Given the description of an element on the screen output the (x, y) to click on. 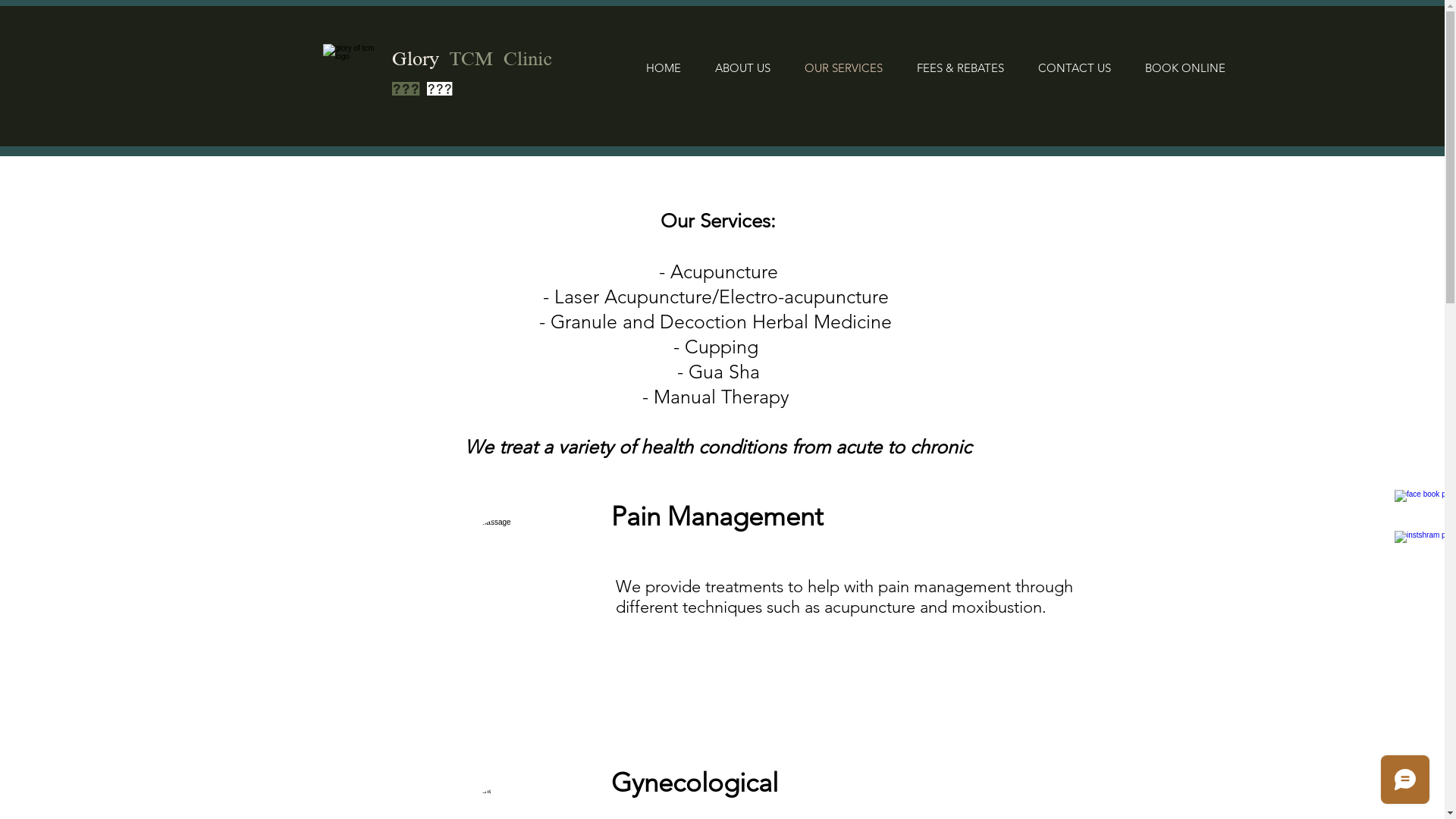
CONTACT US Element type: text (1073, 67)
BOOK ONLINE Element type: text (1184, 67)
FEES & REBATES Element type: text (959, 67)
OUR SERVICES Element type: text (843, 67)
HOME Element type: text (662, 67)
ABOUT US Element type: text (742, 67)
